Given the description of an element on the screen output the (x, y) to click on. 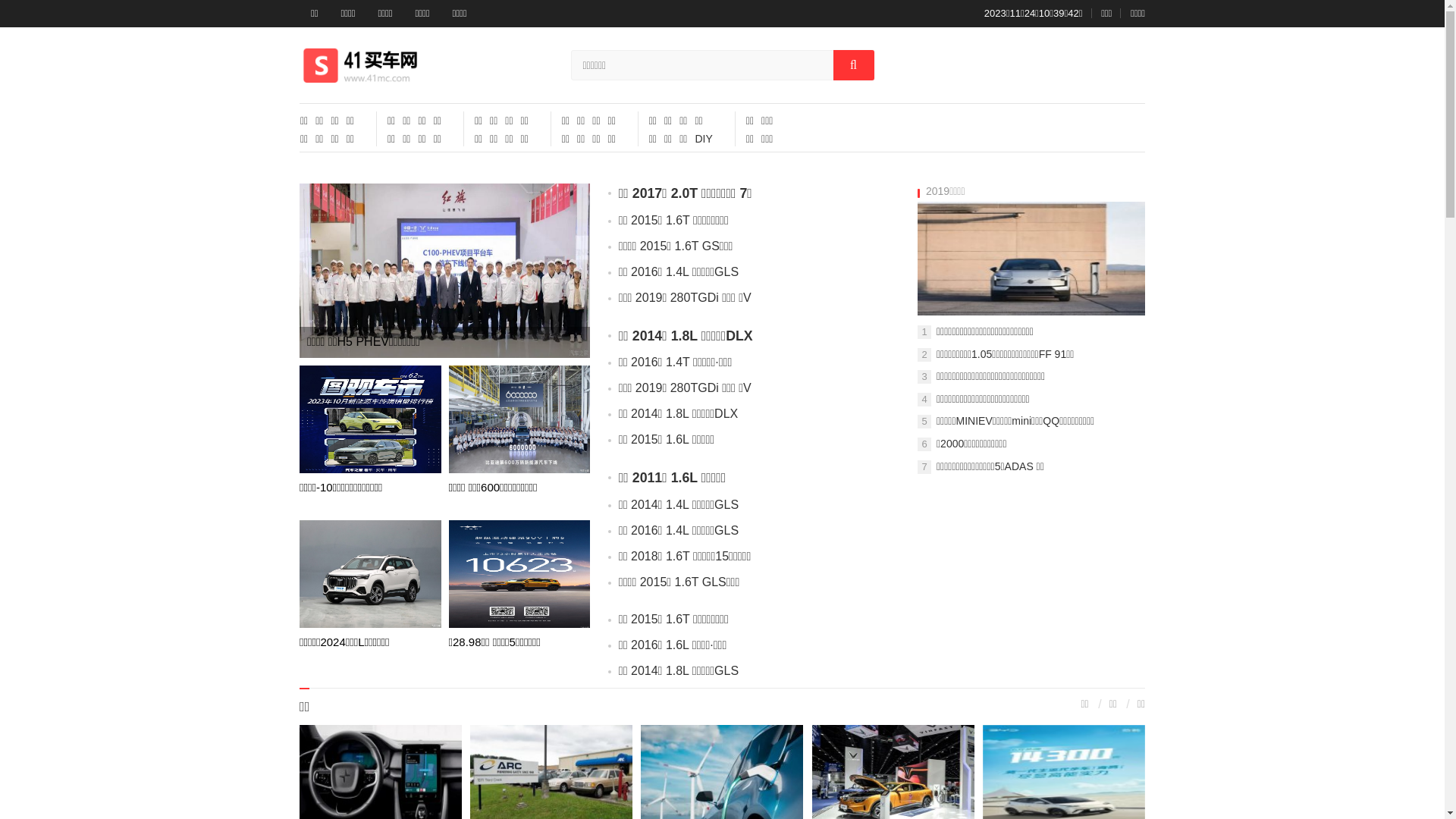
DIY Element type: text (702, 138)
